Given the description of an element on the screen output the (x, y) to click on. 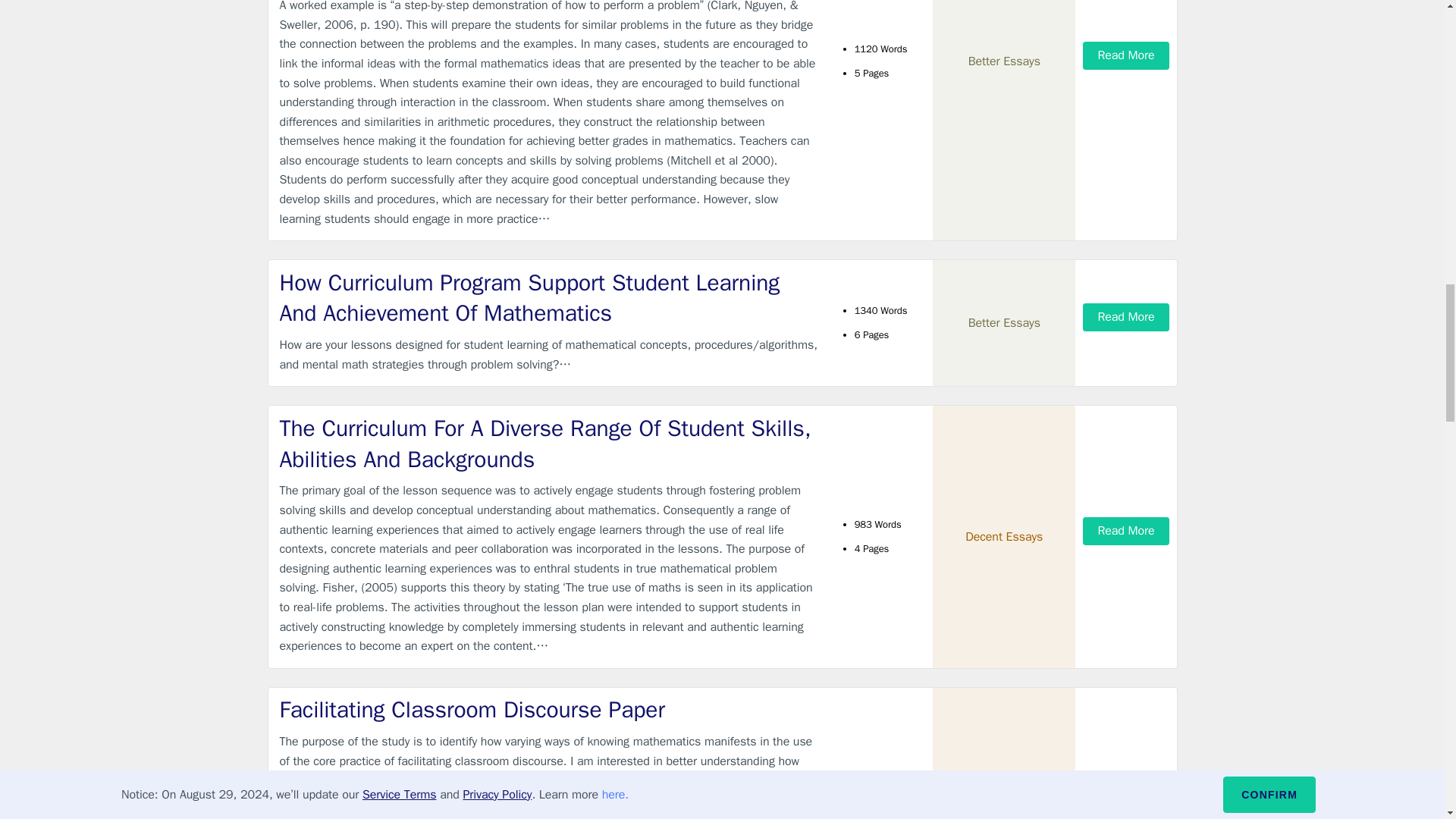
Facilitating Classroom Discourse Paper (548, 709)
Read More (1126, 530)
Read More (1126, 787)
Read More (1126, 55)
Read More (1126, 317)
